Given the description of an element on the screen output the (x, y) to click on. 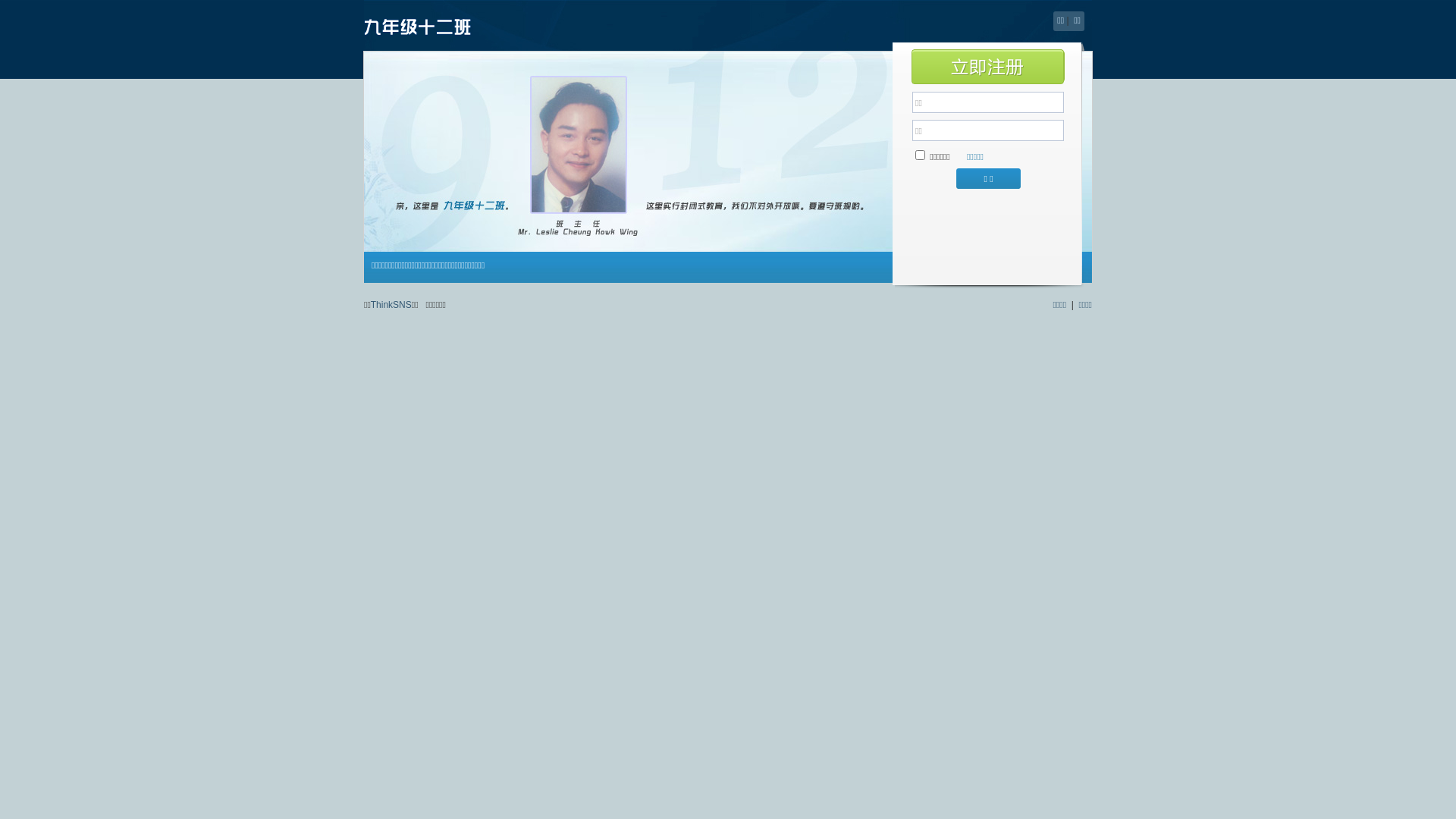
  Element type: text (432, 26)
  Element type: text (987, 66)
ThinkSNS Element type: text (390, 304)
